Given the description of an element on the screen output the (x, y) to click on. 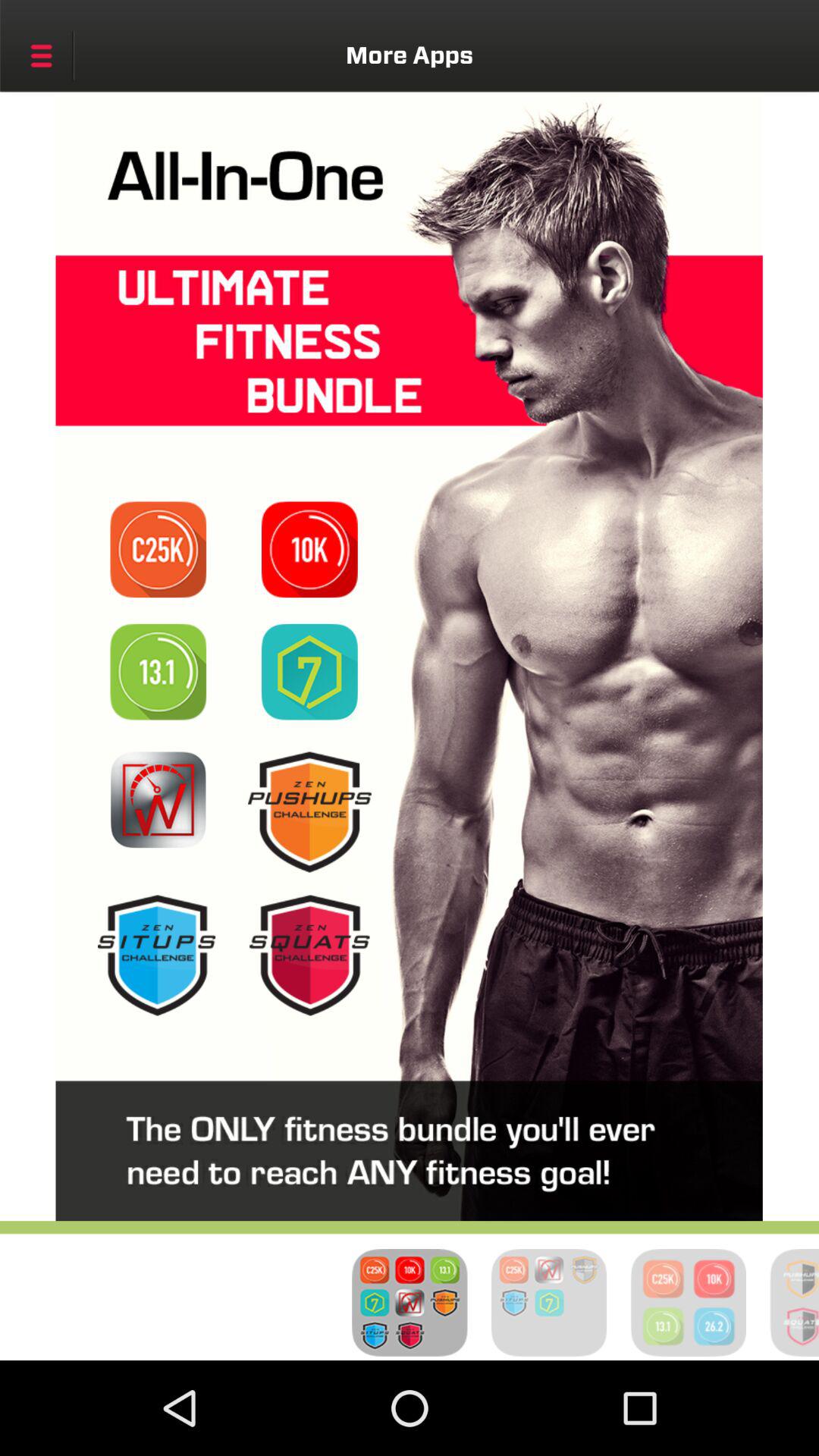
select push-up challenges (309, 811)
